Given the description of an element on the screen output the (x, y) to click on. 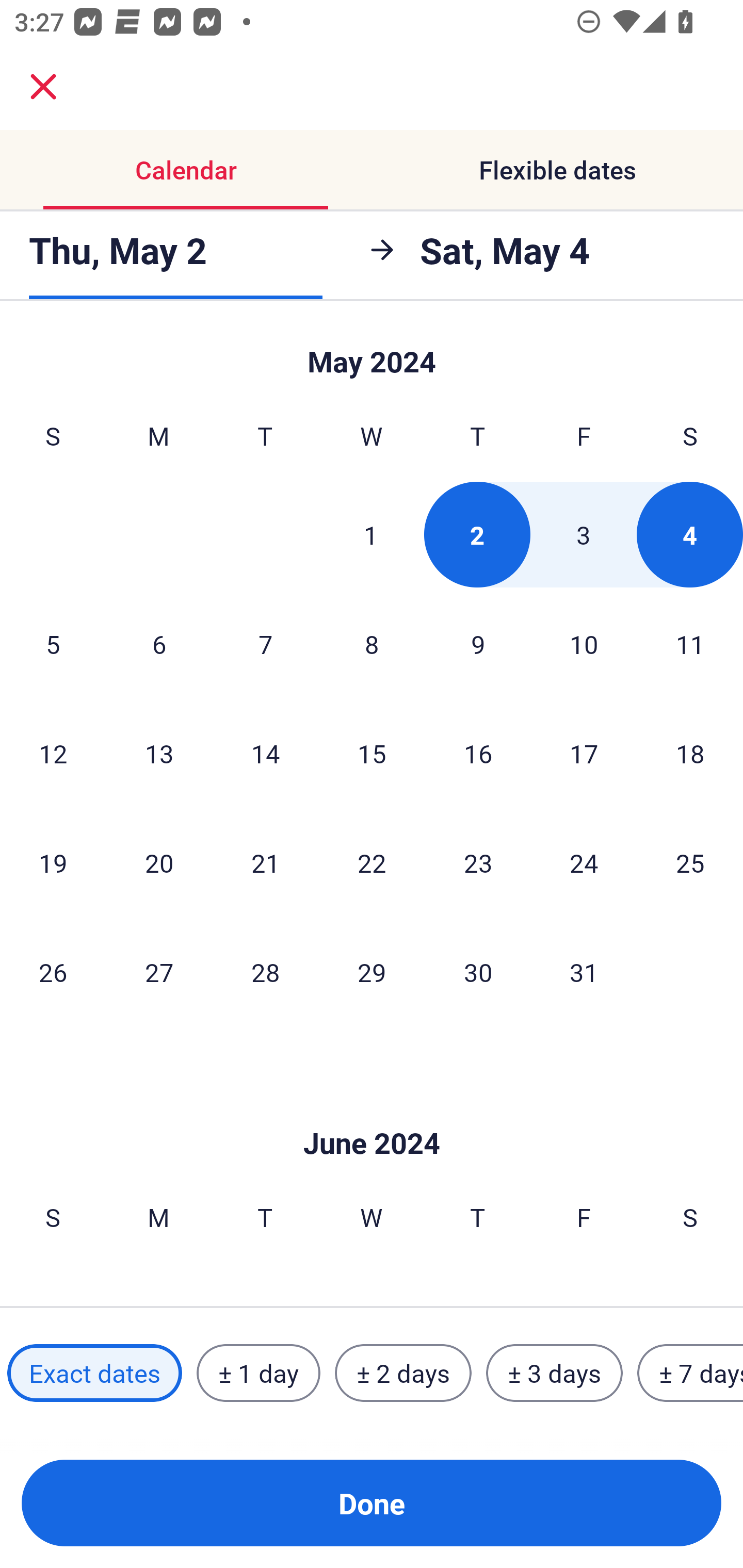
close. (43, 86)
Flexible dates (557, 170)
Skip to Done (371, 352)
1 Wednesday, May 1, 2024 (371, 534)
5 Sunday, May 5, 2024 (53, 643)
6 Monday, May 6, 2024 (159, 643)
7 Tuesday, May 7, 2024 (265, 643)
8 Wednesday, May 8, 2024 (371, 643)
9 Thursday, May 9, 2024 (477, 643)
10 Friday, May 10, 2024 (584, 643)
11 Saturday, May 11, 2024 (690, 643)
12 Sunday, May 12, 2024 (53, 752)
13 Monday, May 13, 2024 (159, 752)
14 Tuesday, May 14, 2024 (265, 752)
15 Wednesday, May 15, 2024 (371, 752)
16 Thursday, May 16, 2024 (477, 752)
17 Friday, May 17, 2024 (584, 752)
18 Saturday, May 18, 2024 (690, 752)
19 Sunday, May 19, 2024 (53, 862)
20 Monday, May 20, 2024 (159, 862)
21 Tuesday, May 21, 2024 (265, 862)
22 Wednesday, May 22, 2024 (371, 862)
23 Thursday, May 23, 2024 (477, 862)
24 Friday, May 24, 2024 (584, 862)
25 Saturday, May 25, 2024 (690, 862)
26 Sunday, May 26, 2024 (53, 971)
27 Monday, May 27, 2024 (159, 971)
28 Tuesday, May 28, 2024 (265, 971)
29 Wednesday, May 29, 2024 (371, 971)
30 Thursday, May 30, 2024 (477, 971)
31 Friday, May 31, 2024 (584, 971)
Skip to Done (371, 1112)
Exact dates (94, 1372)
± 1 day (258, 1372)
± 2 days (403, 1372)
± 3 days (553, 1372)
± 7 days (690, 1372)
Done (371, 1502)
